Given the description of an element on the screen output the (x, y) to click on. 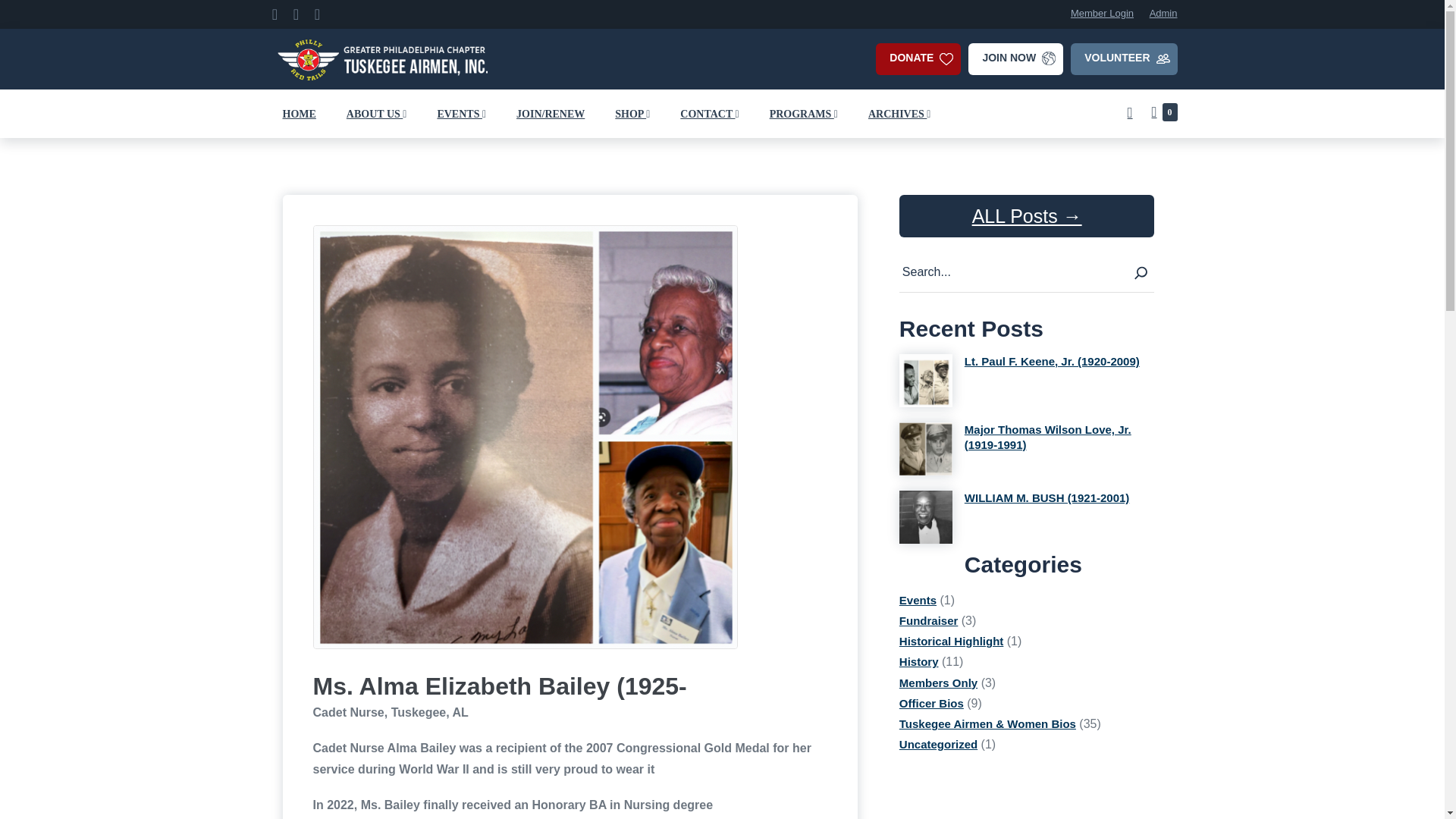
EVENTS (461, 112)
PROGRAMS (803, 112)
DONATE (918, 59)
JOIN NOW (1015, 59)
HOME (298, 112)
Member Login (1096, 12)
Admin (1157, 12)
Shopping Cart (1162, 111)
SHOP (632, 112)
ARCHIVES (899, 112)
VOLUNTEER (1123, 59)
ABOUT US (376, 112)
CONTACT (709, 112)
